Given the description of an element on the screen output the (x, y) to click on. 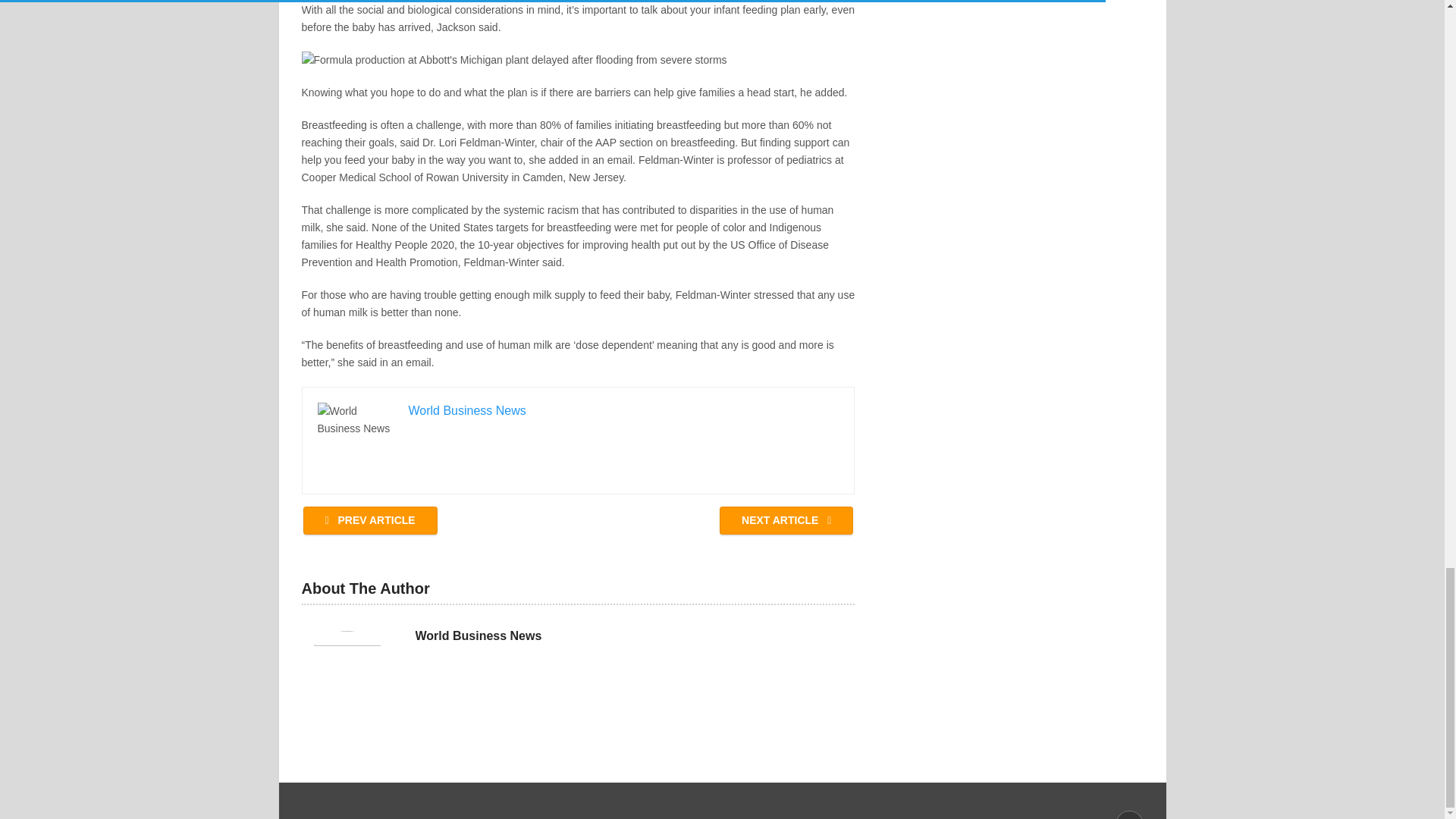
PREV ARTICLE (370, 520)
World Business News (477, 636)
NEXT ARTICLE (786, 520)
